Given the description of an element on the screen output the (x, y) to click on. 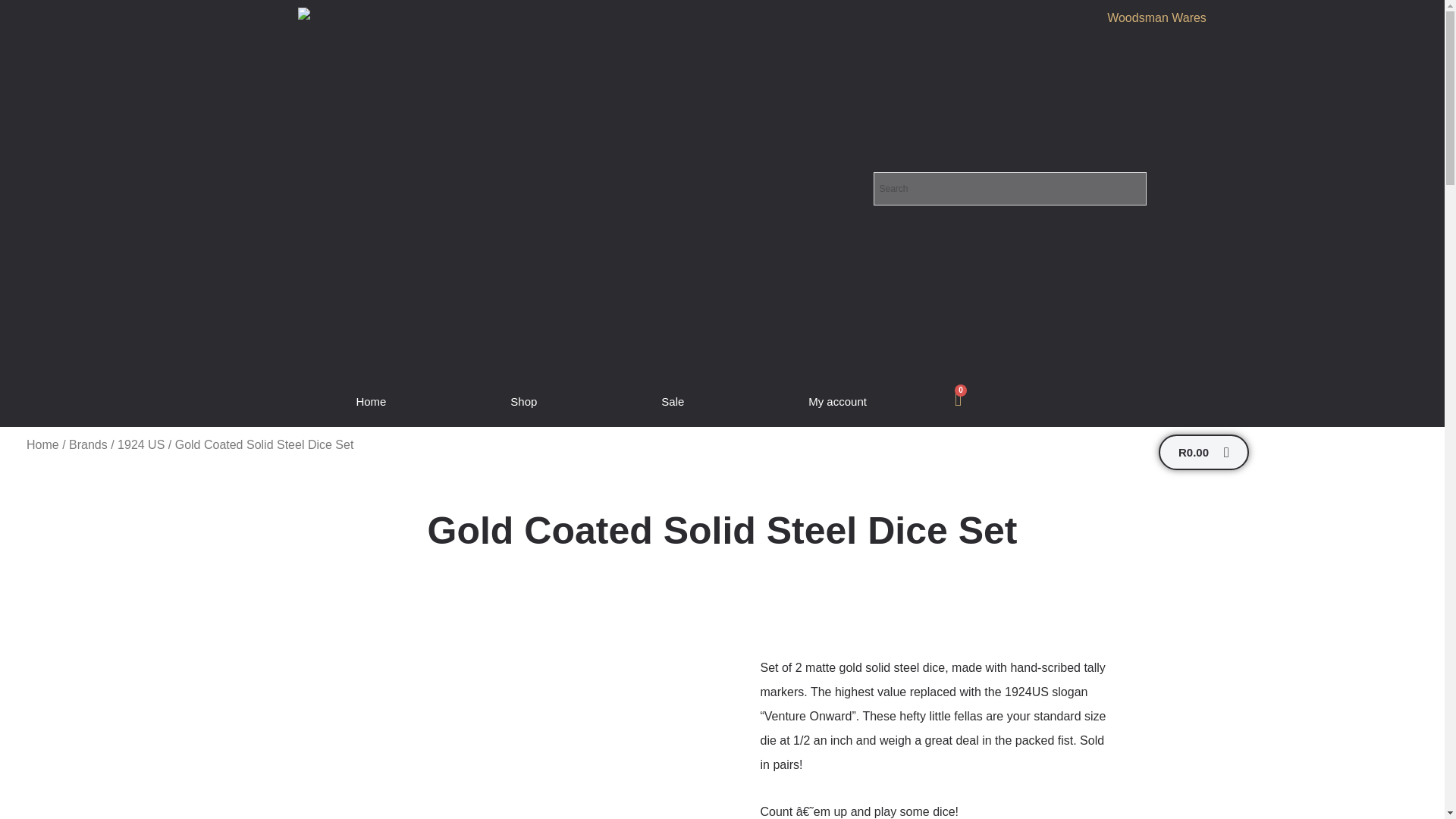
1924 US (140, 444)
Shop (523, 401)
Skip to content (11, 31)
My account (836, 401)
Sale (671, 401)
R0.00 (1203, 452)
Home (42, 444)
0 (957, 398)
Brands (87, 444)
Home (371, 401)
